Given the description of an element on the screen output the (x, y) to click on. 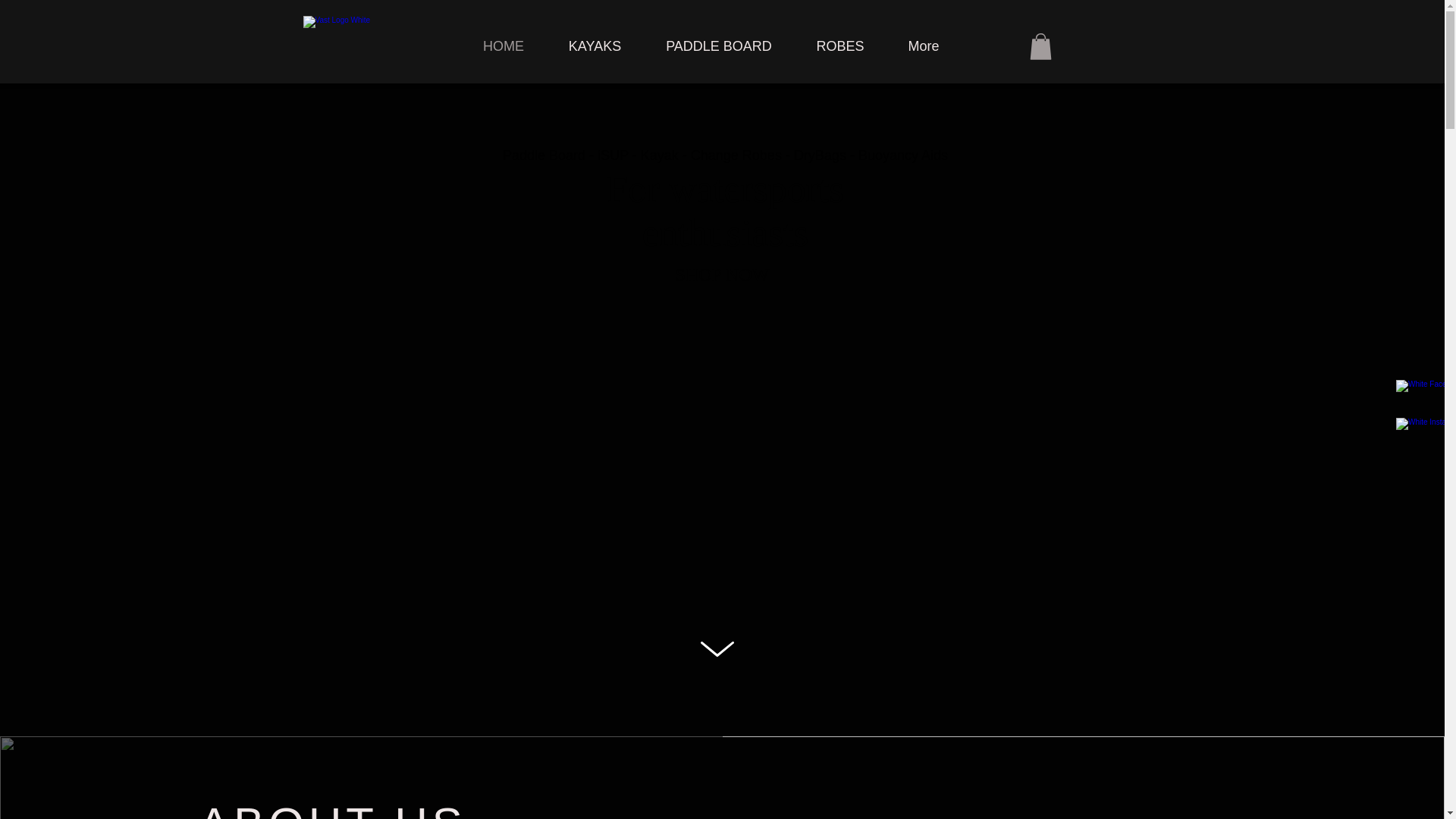
HOME (504, 46)
SHOP NOW (721, 275)
KAYAKS (594, 46)
VAST LOGO (350, 31)
ROBES (840, 46)
PADDLE BOARD (718, 46)
